Given the description of an element on the screen output the (x, y) to click on. 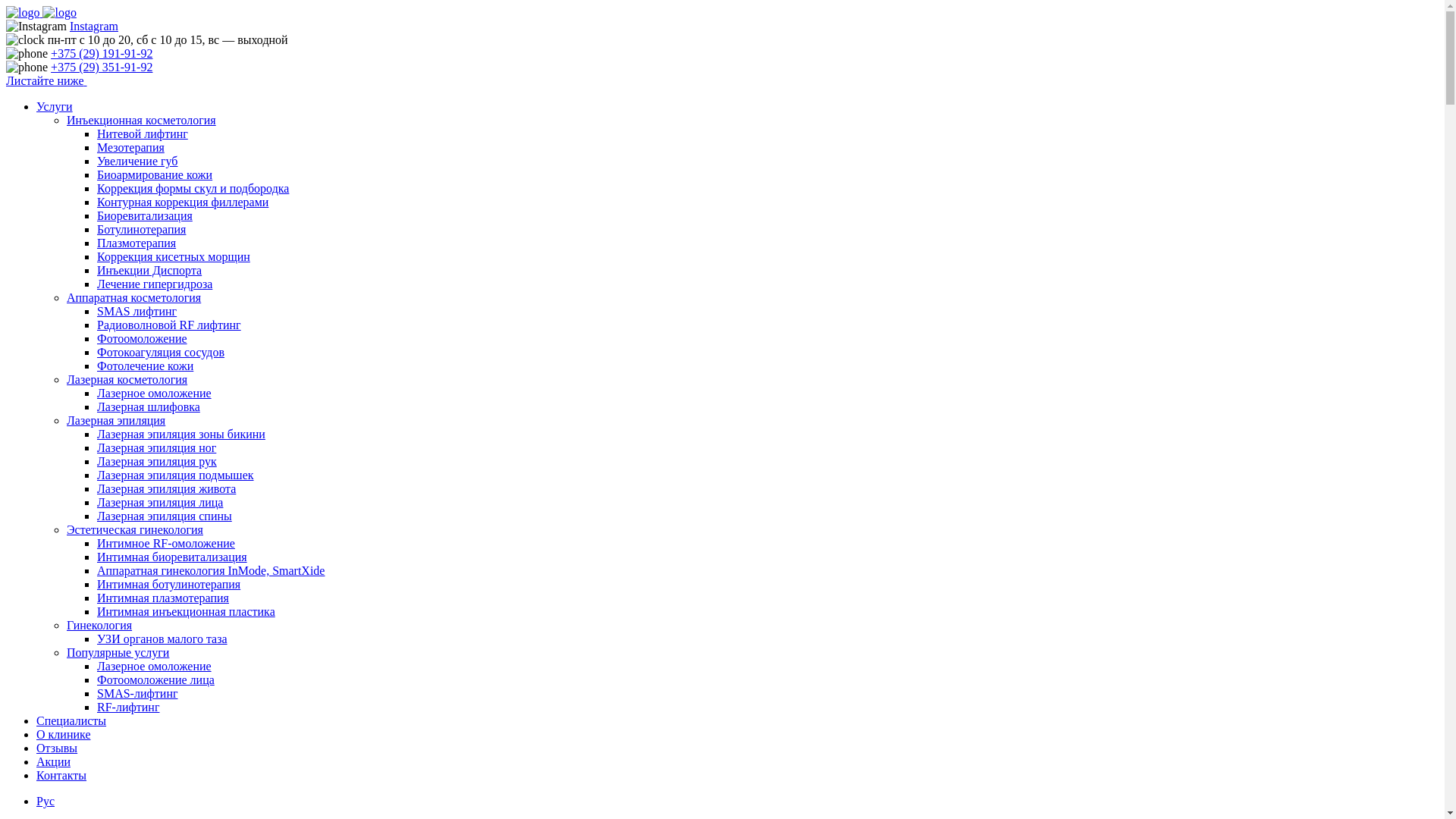
Instagram Element type: text (93, 25)
+375 (29) 191-91-92 Element type: text (101, 53)
+375 (29) 351-91-92 Element type: text (101, 66)
